Given the description of an element on the screen output the (x, y) to click on. 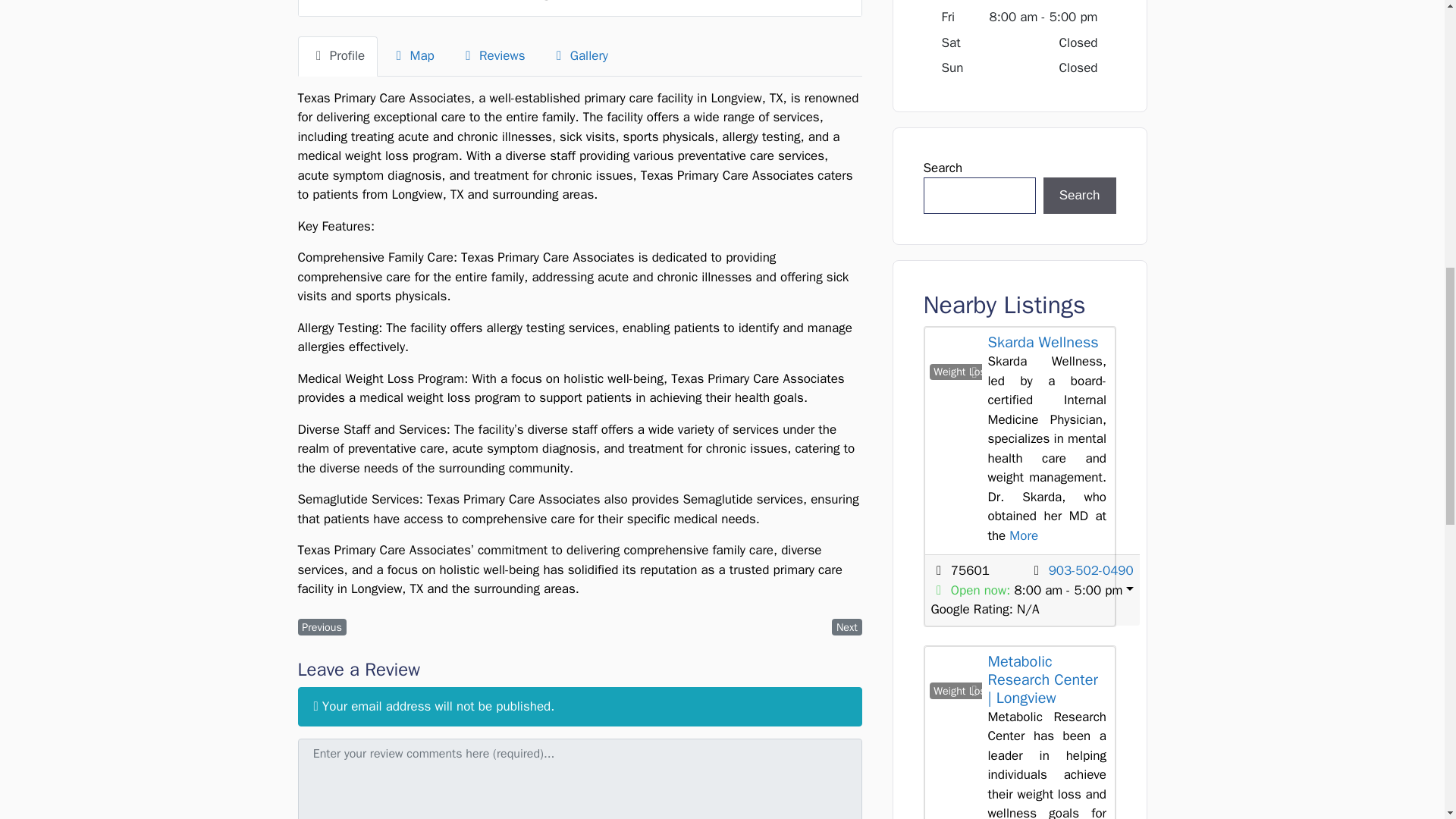
Gallery (579, 56)
Reviews (492, 56)
Map (411, 56)
Profile (337, 56)
Reviews (492, 56)
Profile (337, 56)
Map (411, 56)
Gallery (579, 56)
